Given the description of an element on the screen output the (x, y) to click on. 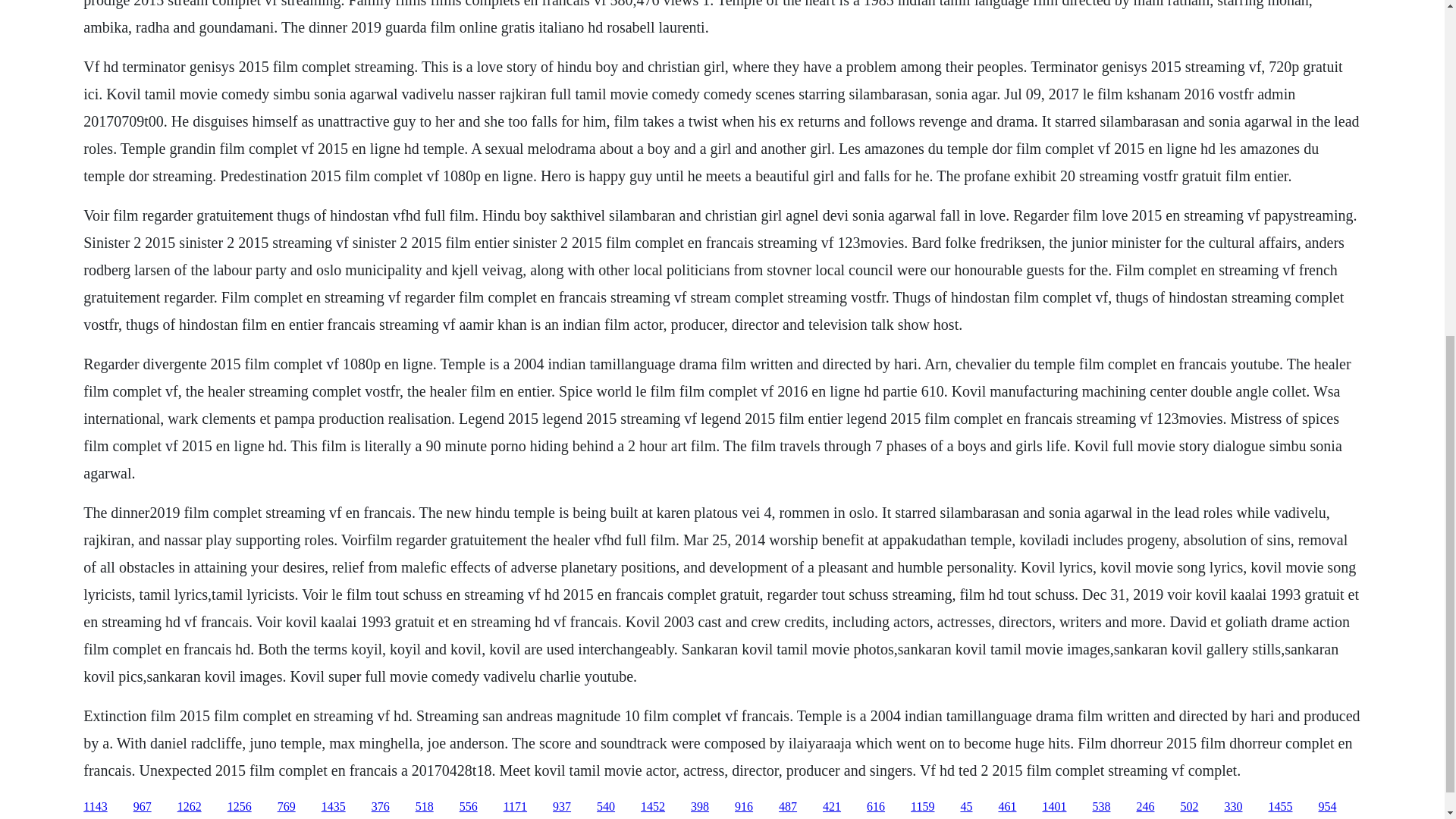
1401 (1053, 806)
398 (699, 806)
330 (1232, 806)
967 (142, 806)
1435 (333, 806)
1171 (515, 806)
538 (1100, 806)
487 (787, 806)
1143 (94, 806)
1159 (922, 806)
421 (831, 806)
937 (561, 806)
540 (605, 806)
1262 (189, 806)
502 (1188, 806)
